Given the description of an element on the screen output the (x, y) to click on. 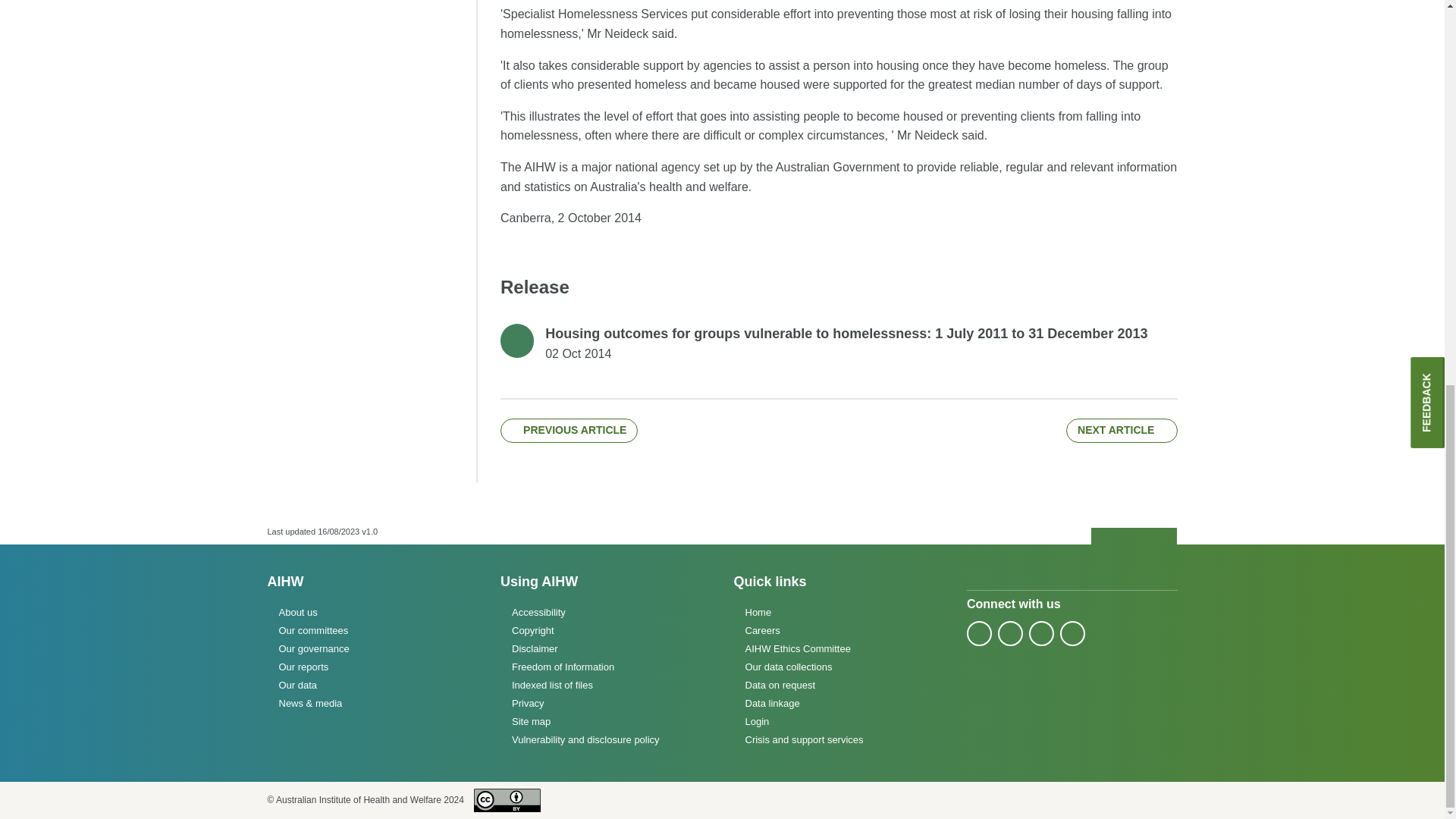
Back to top (1133, 537)
